Given the description of an element on the screen output the (x, y) to click on. 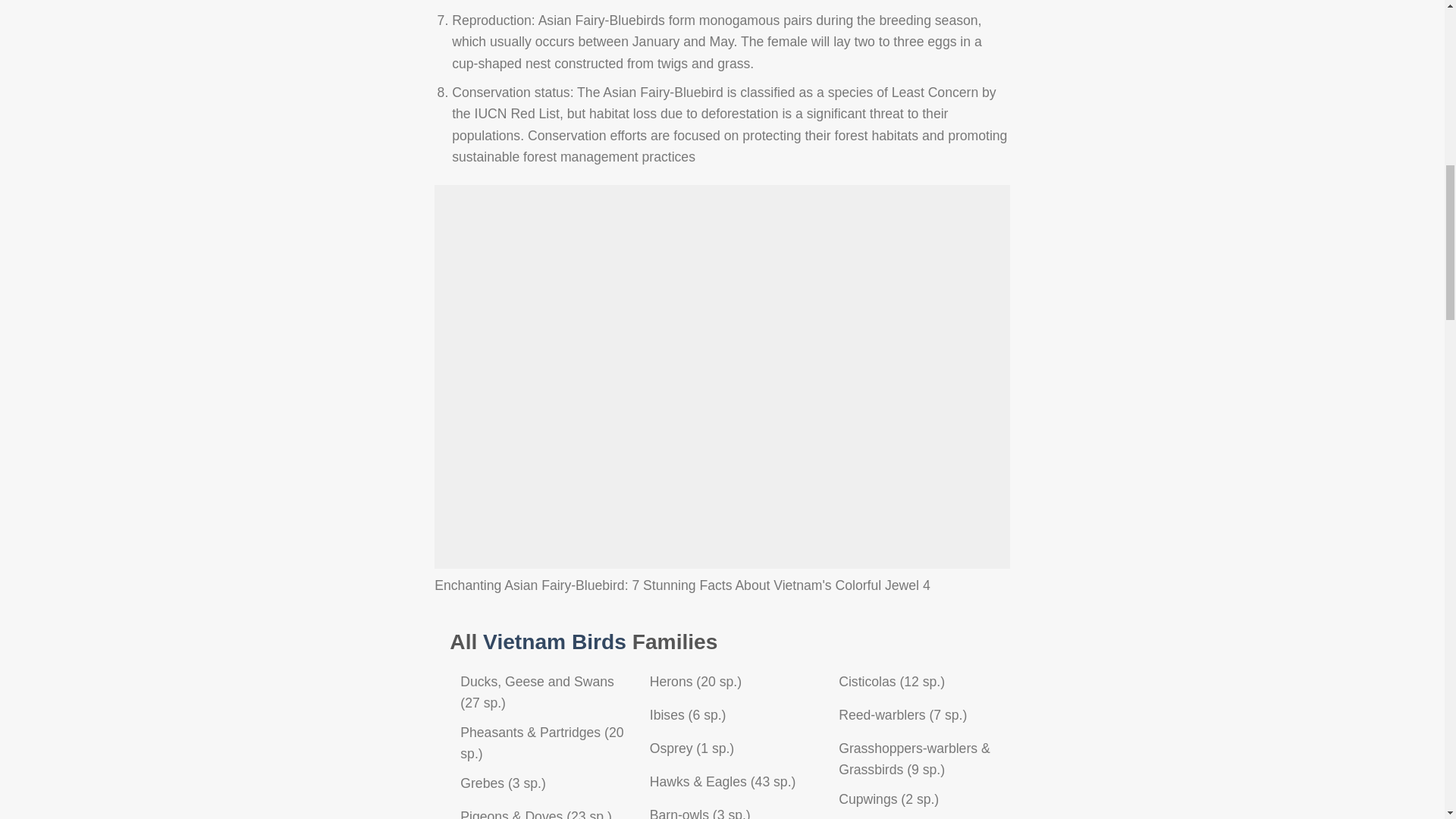
Vietnam Birds (554, 641)
